Given the description of an element on the screen output the (x, y) to click on. 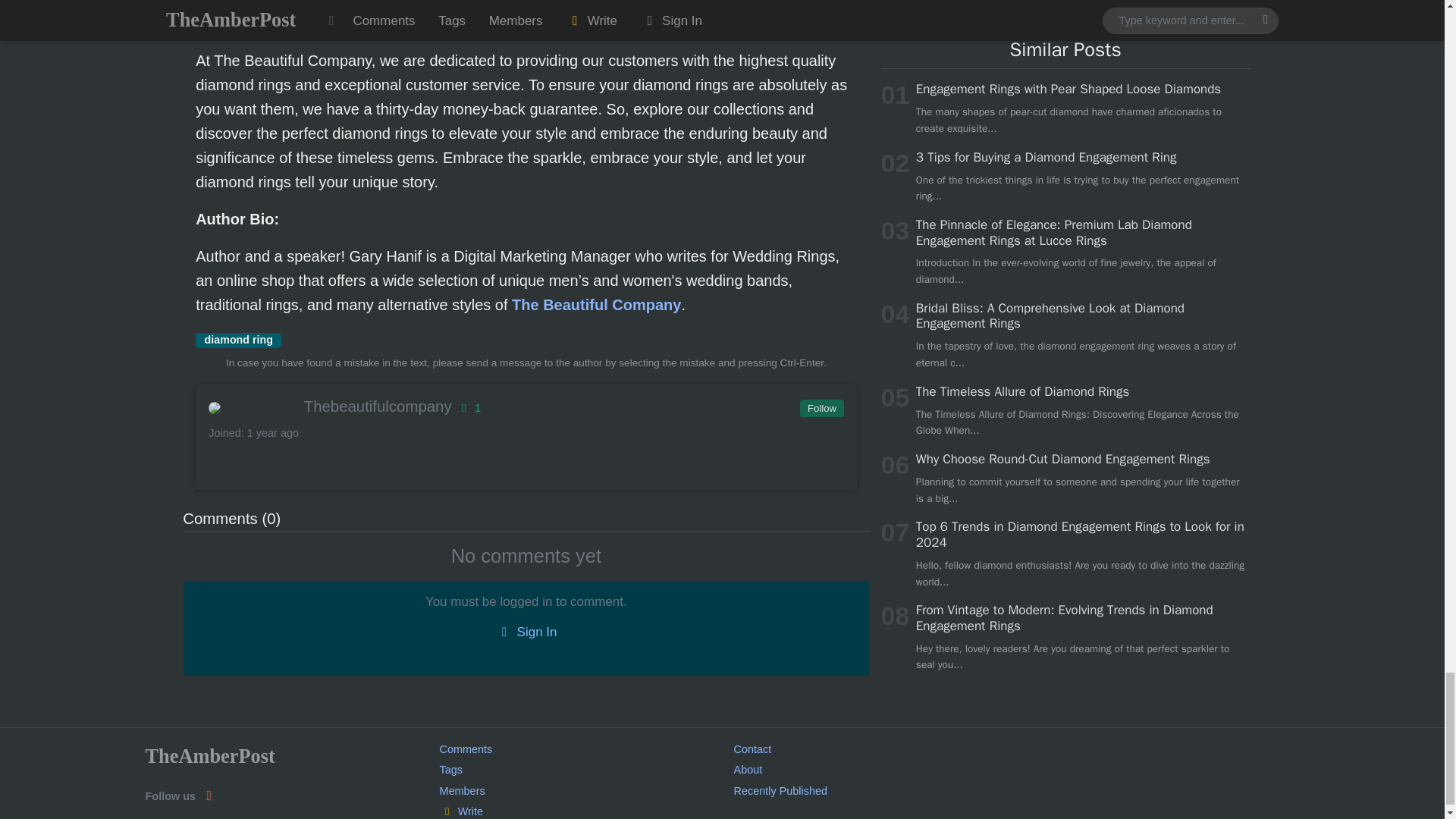
diamond ring (238, 340)
The Beautiful Company (596, 304)
Thebeautifulcompany 1 (525, 406)
Sign In (525, 631)
Rating (467, 408)
Follow (821, 408)
diamond ring (238, 340)
Subscribe on rss (207, 794)
